Given the description of an element on the screen output the (x, y) to click on. 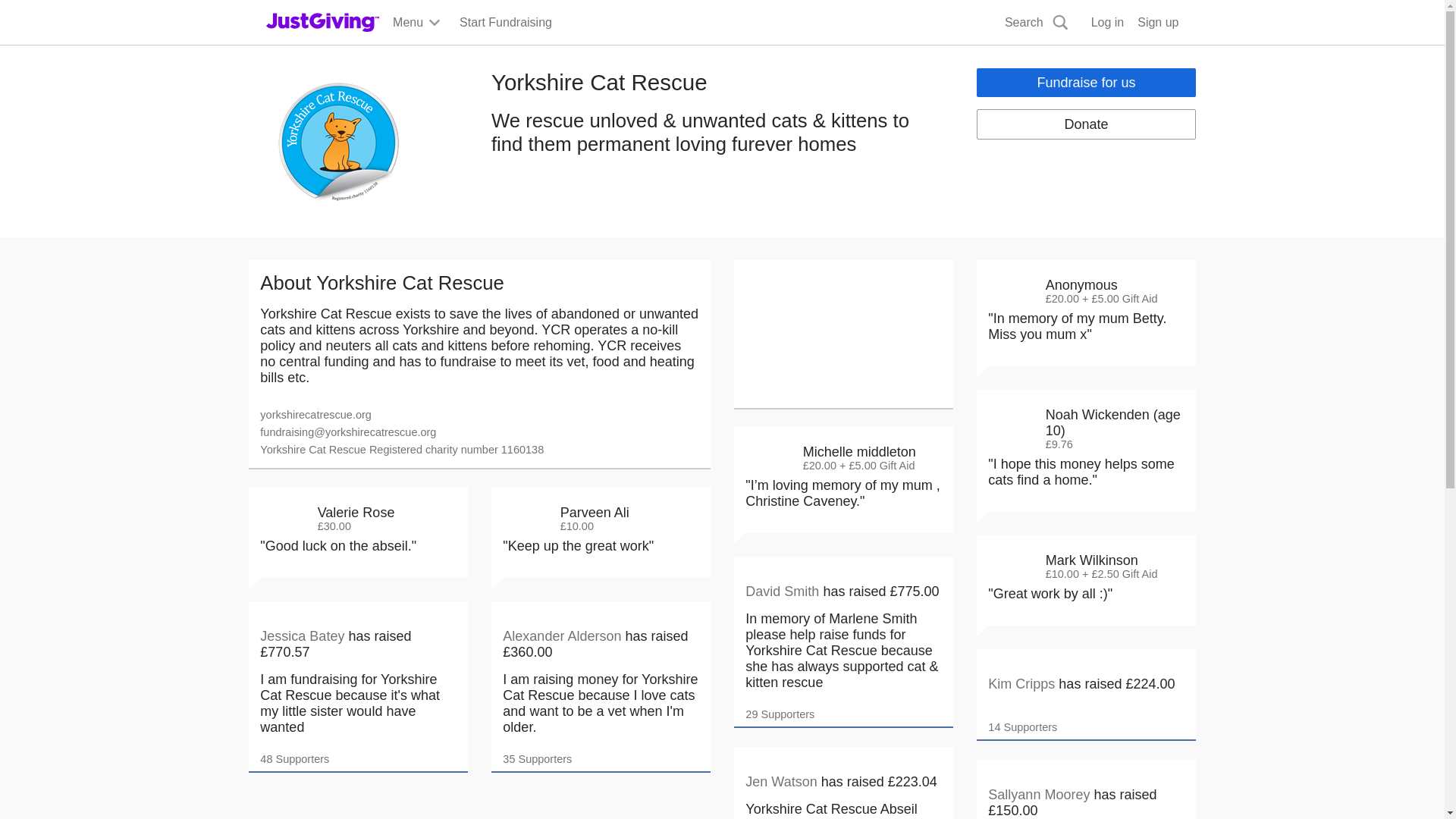
Menu (416, 22)
Fundraise for us (1085, 82)
Search (919, 57)
Sign up (1157, 22)
Start Fundraising (505, 22)
Donate (1085, 124)
yorkshirecatrescue.org (315, 414)
Search (1036, 22)
Log in (1107, 22)
